Given the description of an element on the screen output the (x, y) to click on. 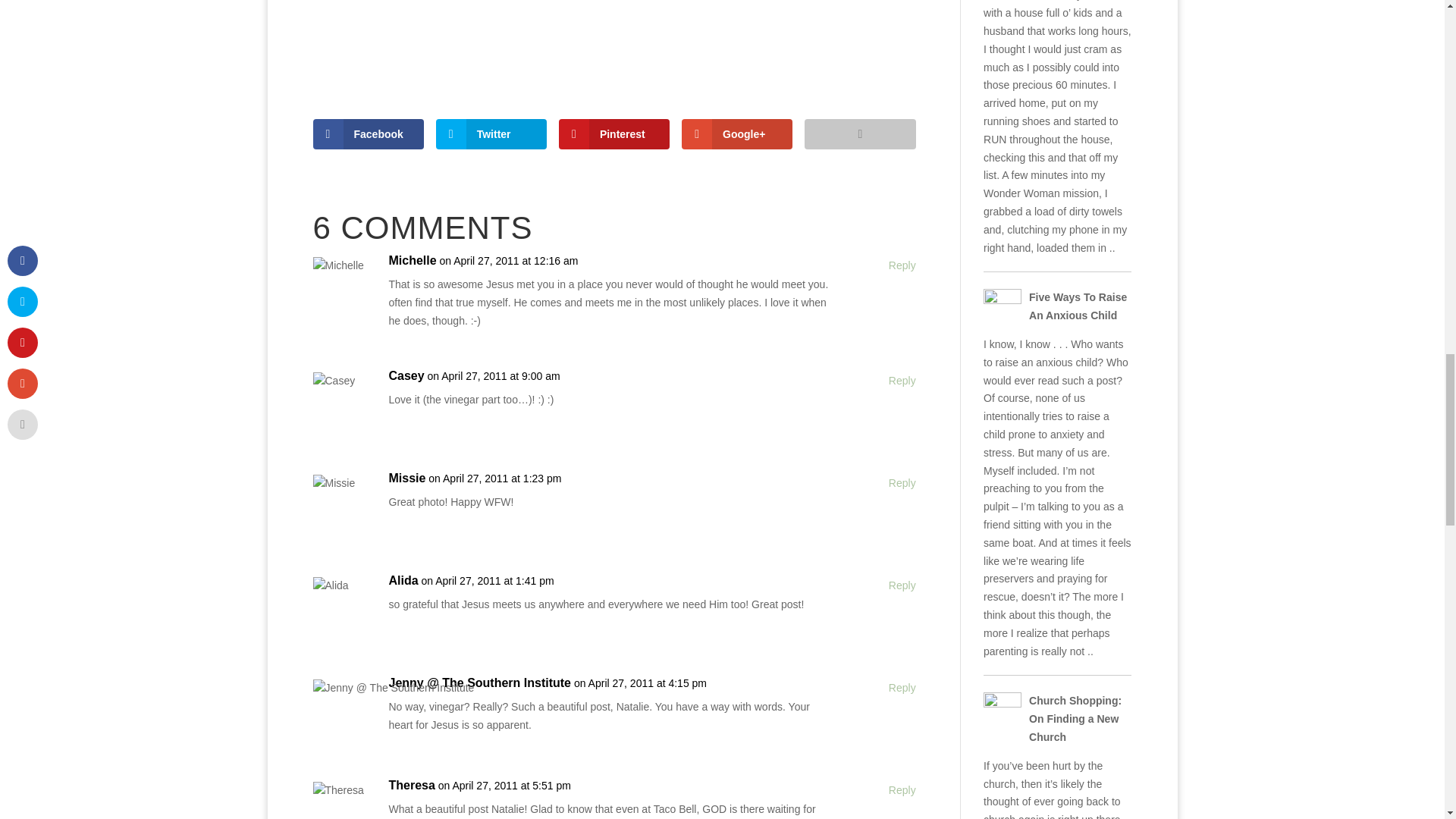
Michelle (411, 260)
Facebook (368, 133)
Missie (406, 478)
Pinterest (614, 133)
Reply (901, 381)
Reply (901, 265)
WFWlogo (614, 19)
Twitter (491, 133)
